Given the description of an element on the screen output the (x, y) to click on. 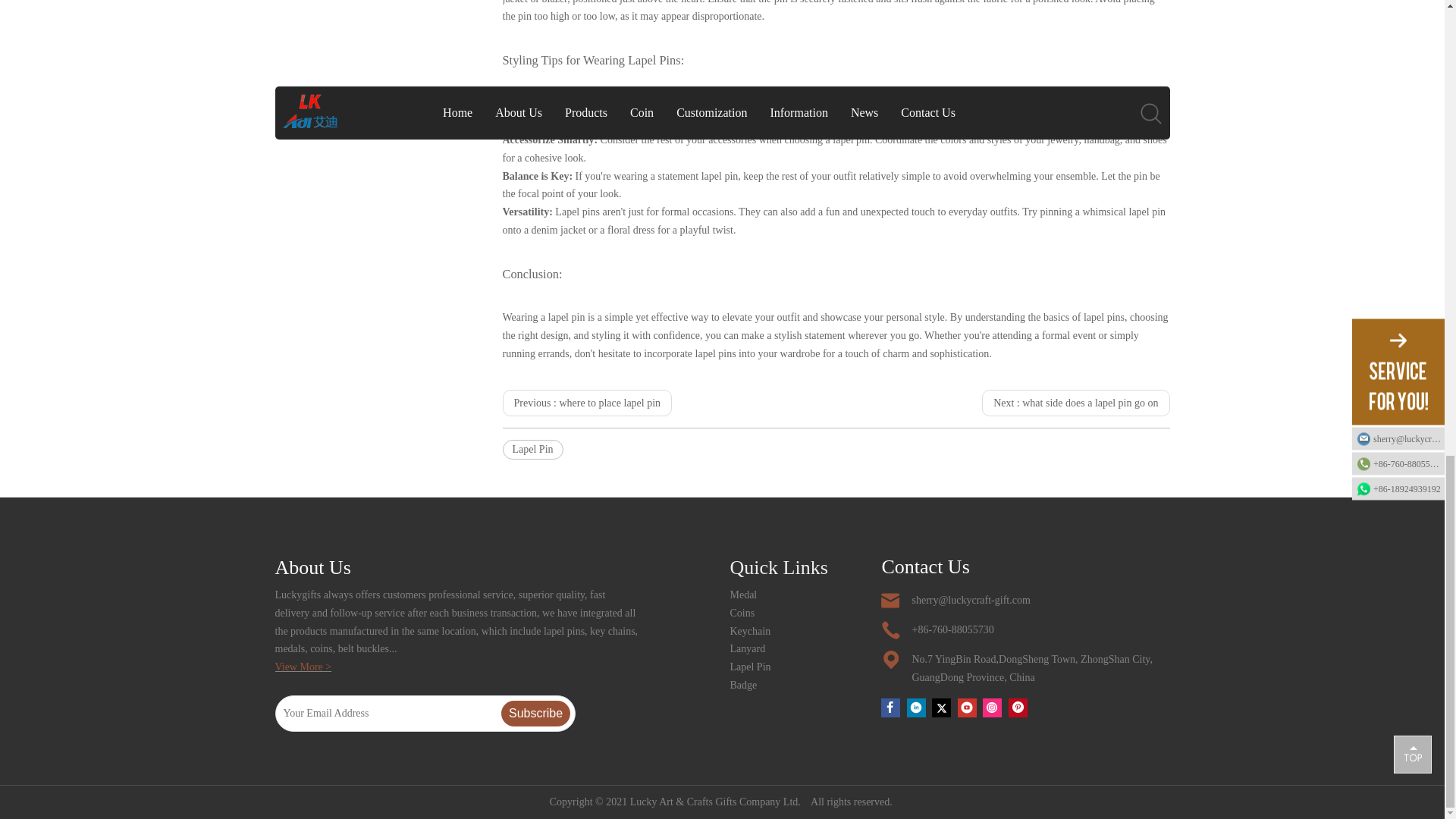
Subscribe (535, 713)
Lapel Pin (532, 449)
Medal (743, 594)
